Given the description of an element on the screen output the (x, y) to click on. 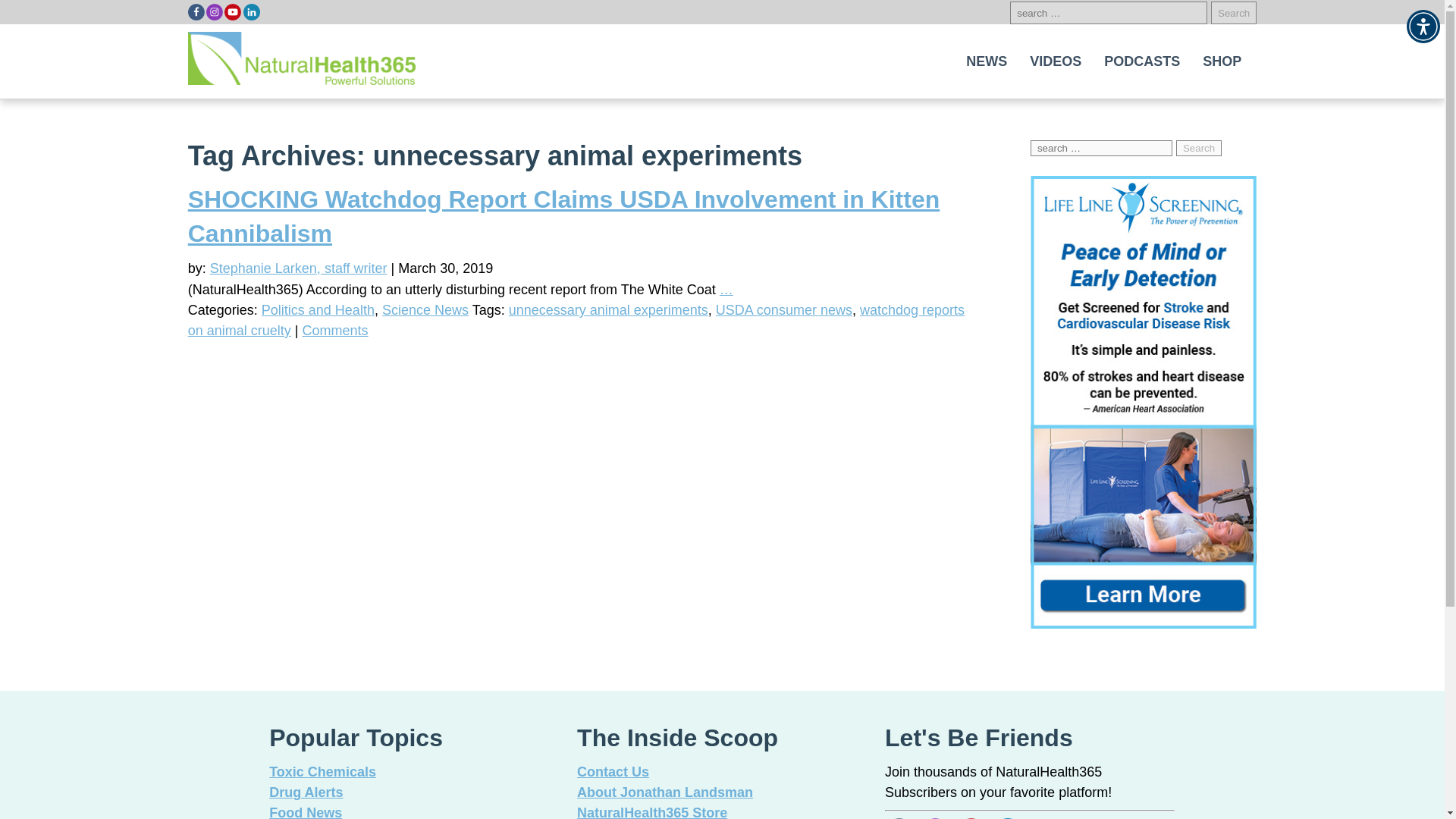
SHOP (1222, 60)
NaturalHealth365 on Instagram (214, 12)
VIDEOS (1055, 60)
NaturalHealth365 Store (651, 812)
Search (1198, 148)
NaturalHealth365 on Facebook (196, 12)
Search (1233, 12)
Accessibility Menu (1422, 26)
Stephanie Larken, staff writer (298, 268)
Food News (305, 812)
NaturalHealth365 on LinkedIn (251, 12)
NaturalHealth365 YouTube Channel (232, 12)
